Given the description of an element on the screen output the (x, y) to click on. 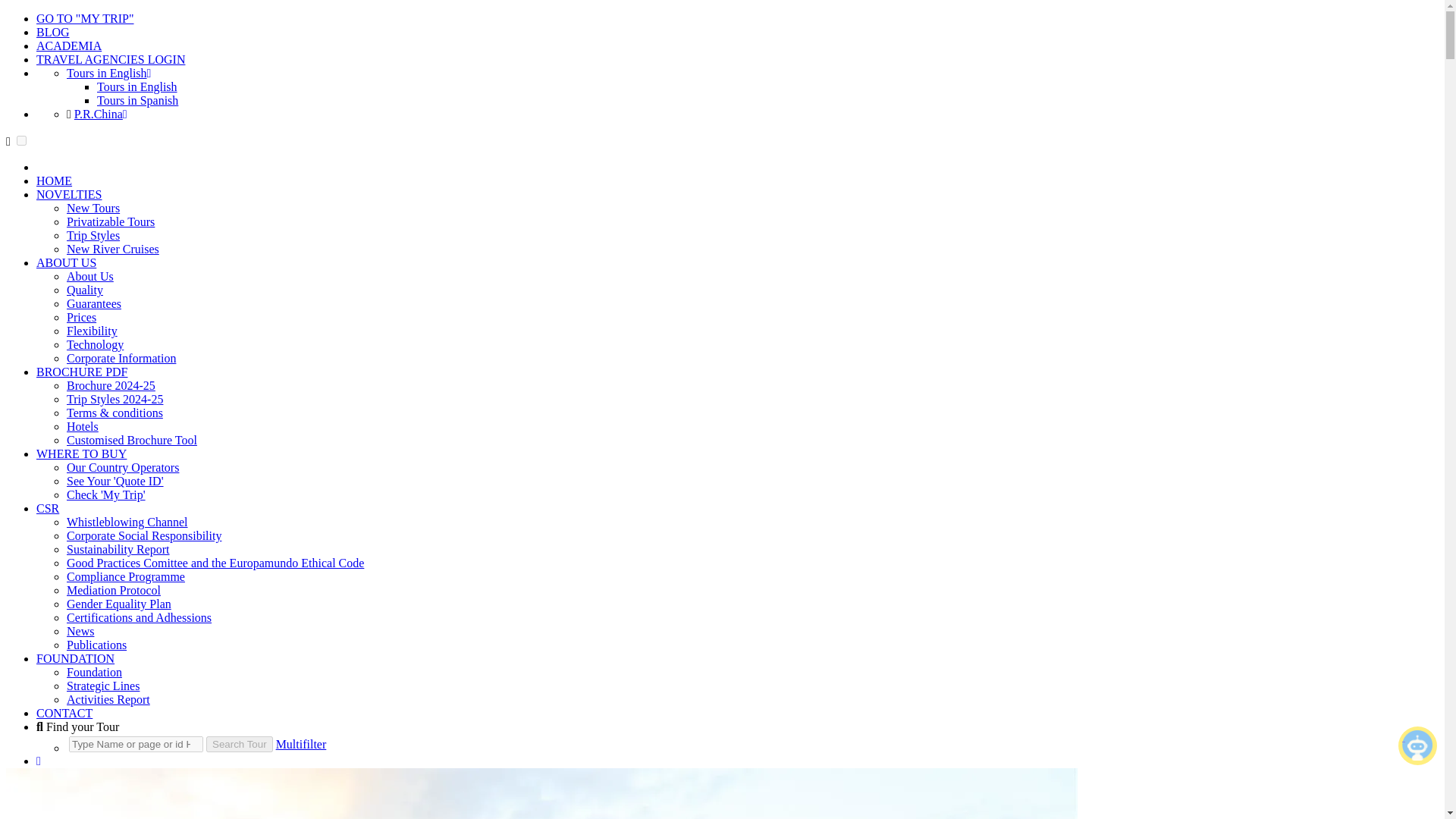
Check 'My Trip' (105, 494)
Tours in English (137, 86)
Hotels (82, 426)
Corporate Information (121, 358)
TRAVEL AGENCIES LOGIN (110, 59)
Our Country Operators (122, 467)
CSR (47, 508)
Guarantees (93, 303)
Technology (94, 344)
Corporate Social Responsibility (143, 535)
Customised Brochure Tool (131, 440)
New Tours (92, 207)
Gender Equality Plan (118, 603)
Sustainability Report (118, 549)
Privatizable Tours (110, 221)
